Given the description of an element on the screen output the (x, y) to click on. 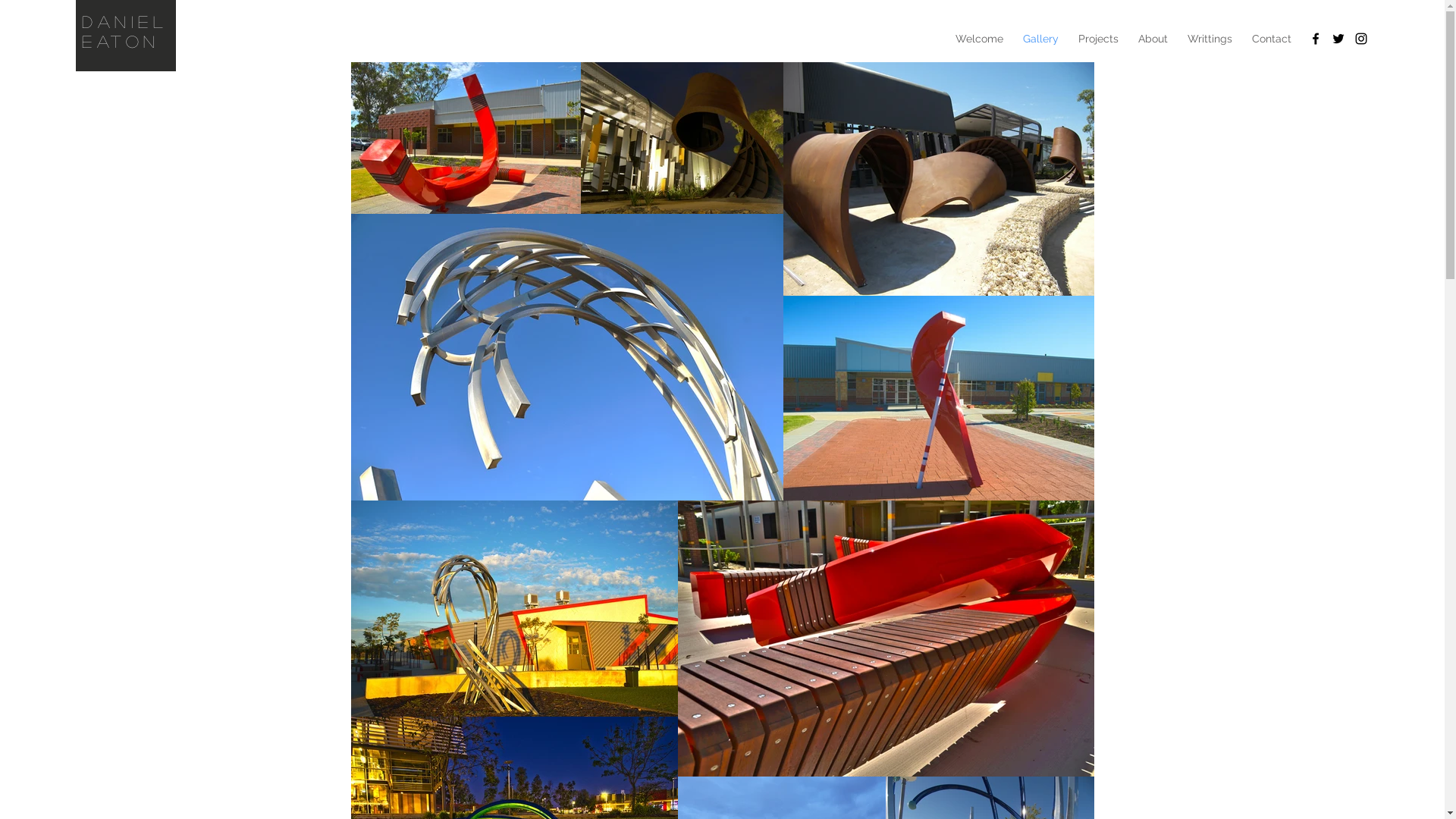
Gallery Element type: text (1040, 38)
Contact Element type: text (1271, 38)
About Element type: text (1152, 38)
daniel Element type: text (124, 20)
Projects Element type: text (1098, 38)
Welcome Element type: text (979, 38)
